Given the description of an element on the screen output the (x, y) to click on. 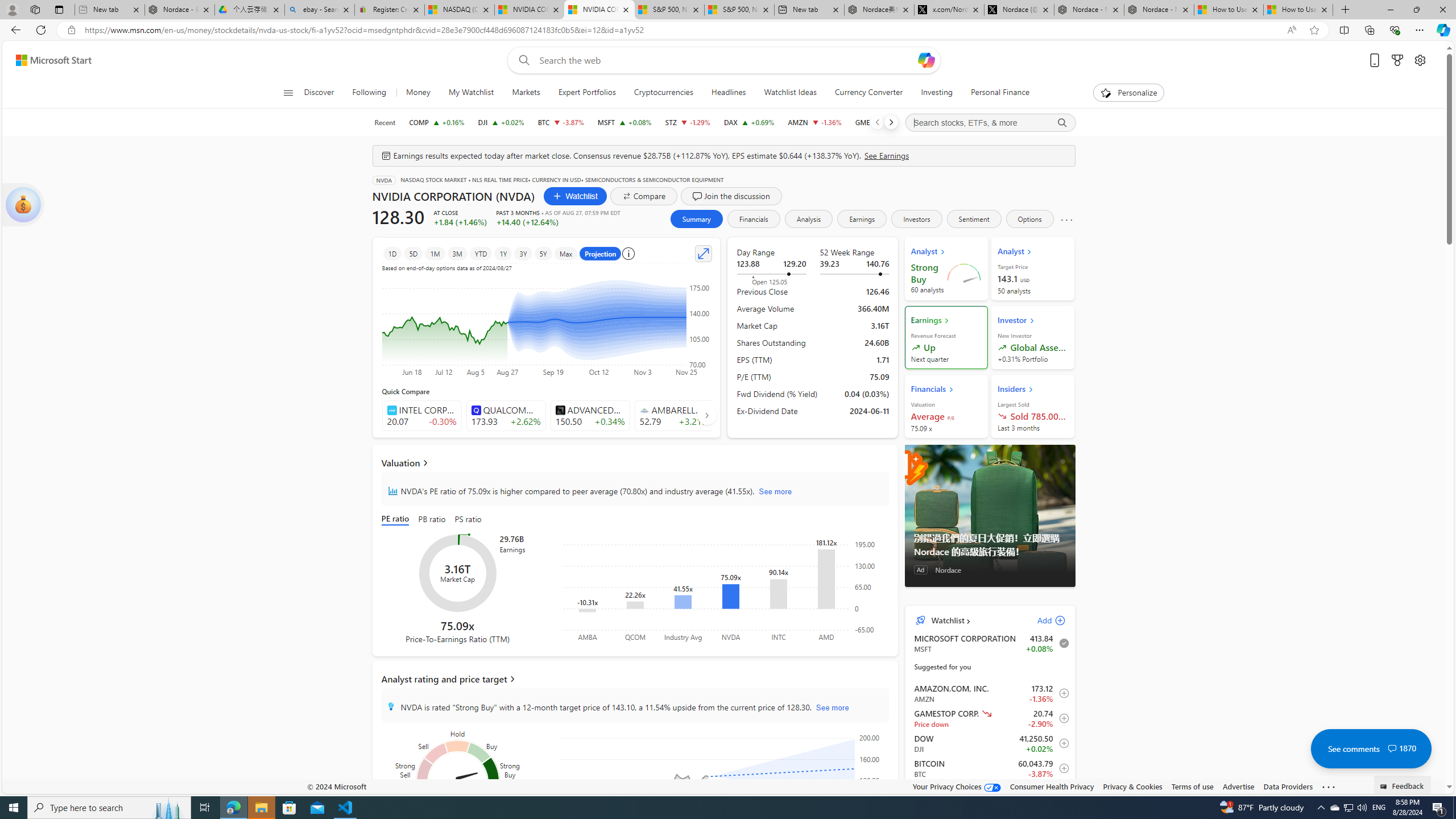
Watchlist (946, 620)
